Given the description of an element on the screen output the (x, y) to click on. 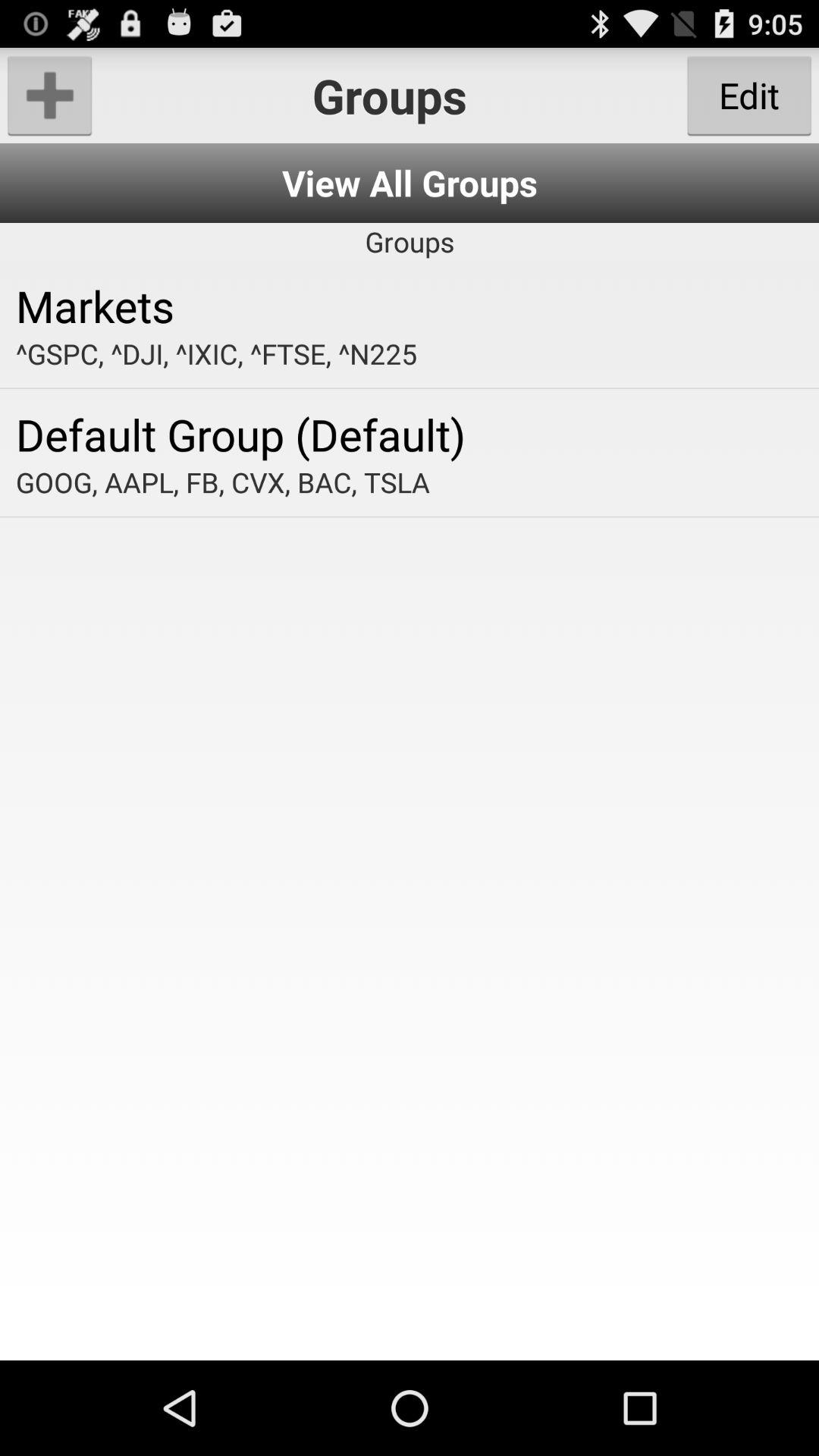
tap the item at the top left corner (49, 95)
